Given the description of an element on the screen output the (x, y) to click on. 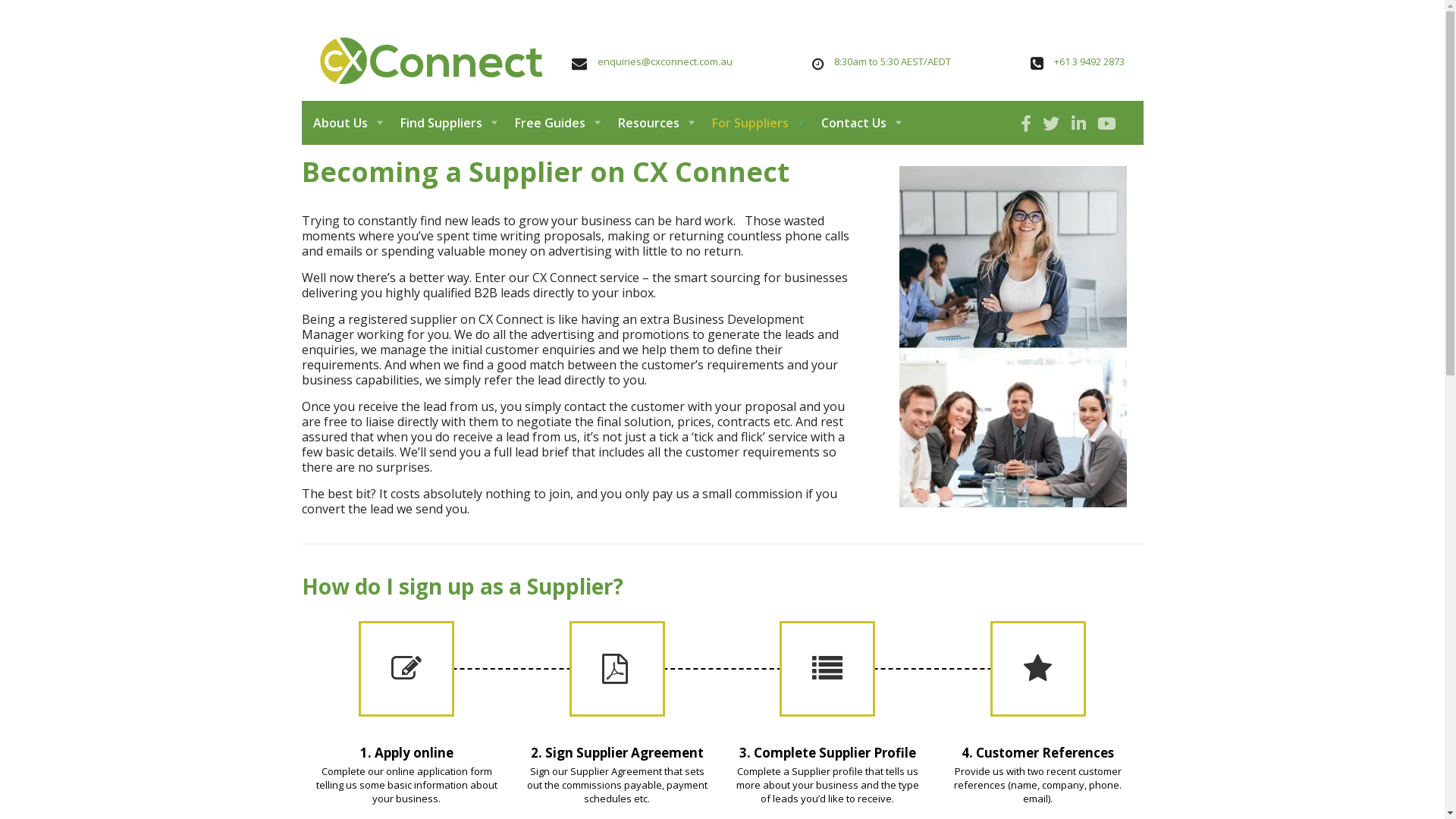
For Suppliers Element type: text (754, 122)
  Element type: text (1052, 122)
Contact Us Element type: text (858, 122)
Resources Element type: text (653, 122)
CX Connect Supplier Join Element type: hover (1012, 336)
  Element type: text (1027, 122)
  Element type: text (1079, 122)
Find Suppliers Element type: text (445, 122)
About Us Element type: text (350, 122)
Free Guides Element type: text (554, 122)
  Element type: text (1108, 122)
+61 3 9492 2873 Element type: text (1089, 61)
enquiries@cxconnect.com.au Element type: text (664, 61)
